Given the description of an element on the screen output the (x, y) to click on. 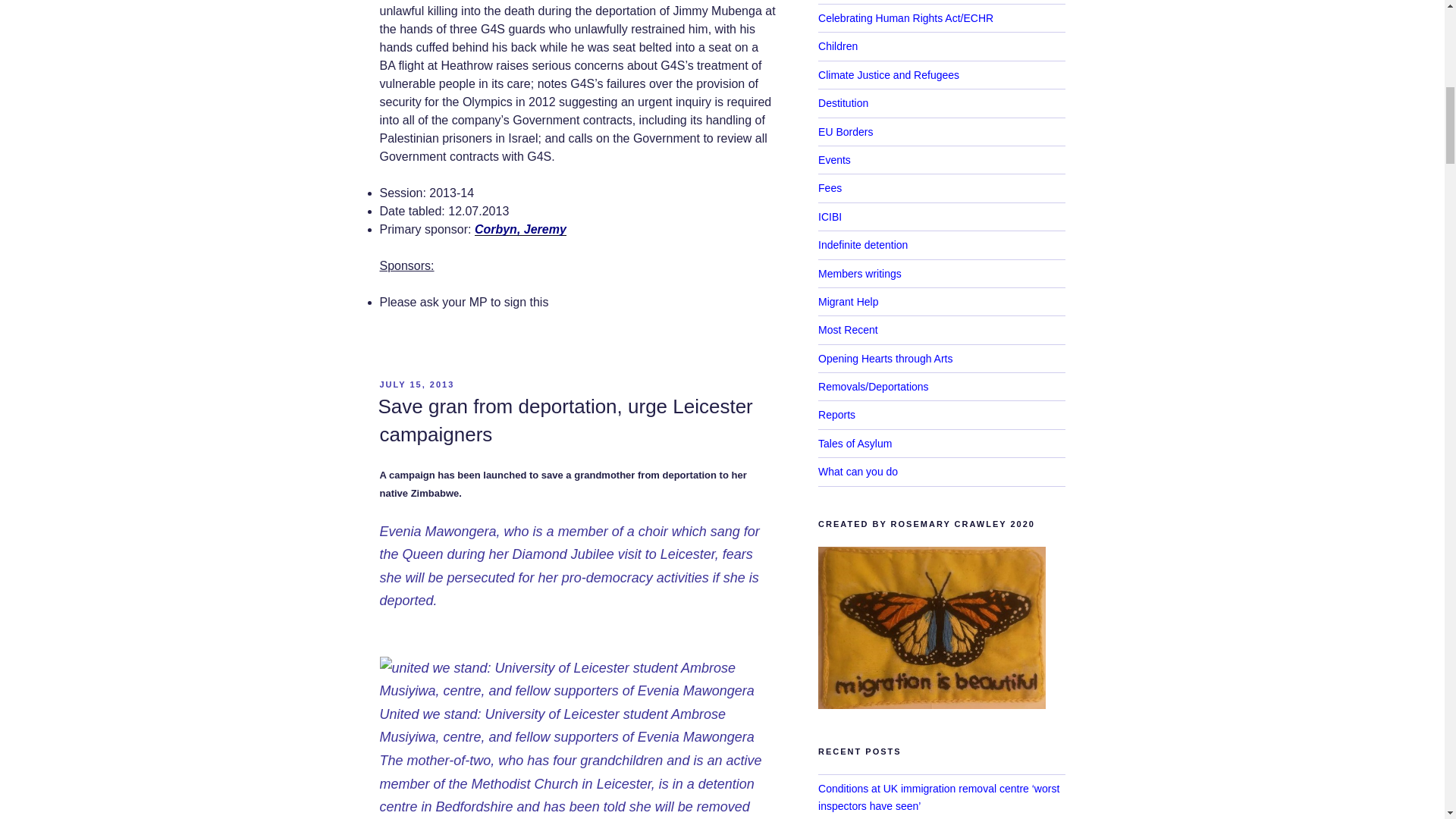
JULY 15, 2013 (416, 384)
Save gran from deportation, urge Leicester campaigners (564, 419)
Children (837, 46)
Corbyn, Jeremy (520, 228)
Climate Justice and Refugees (888, 74)
